Given the description of an element on the screen output the (x, y) to click on. 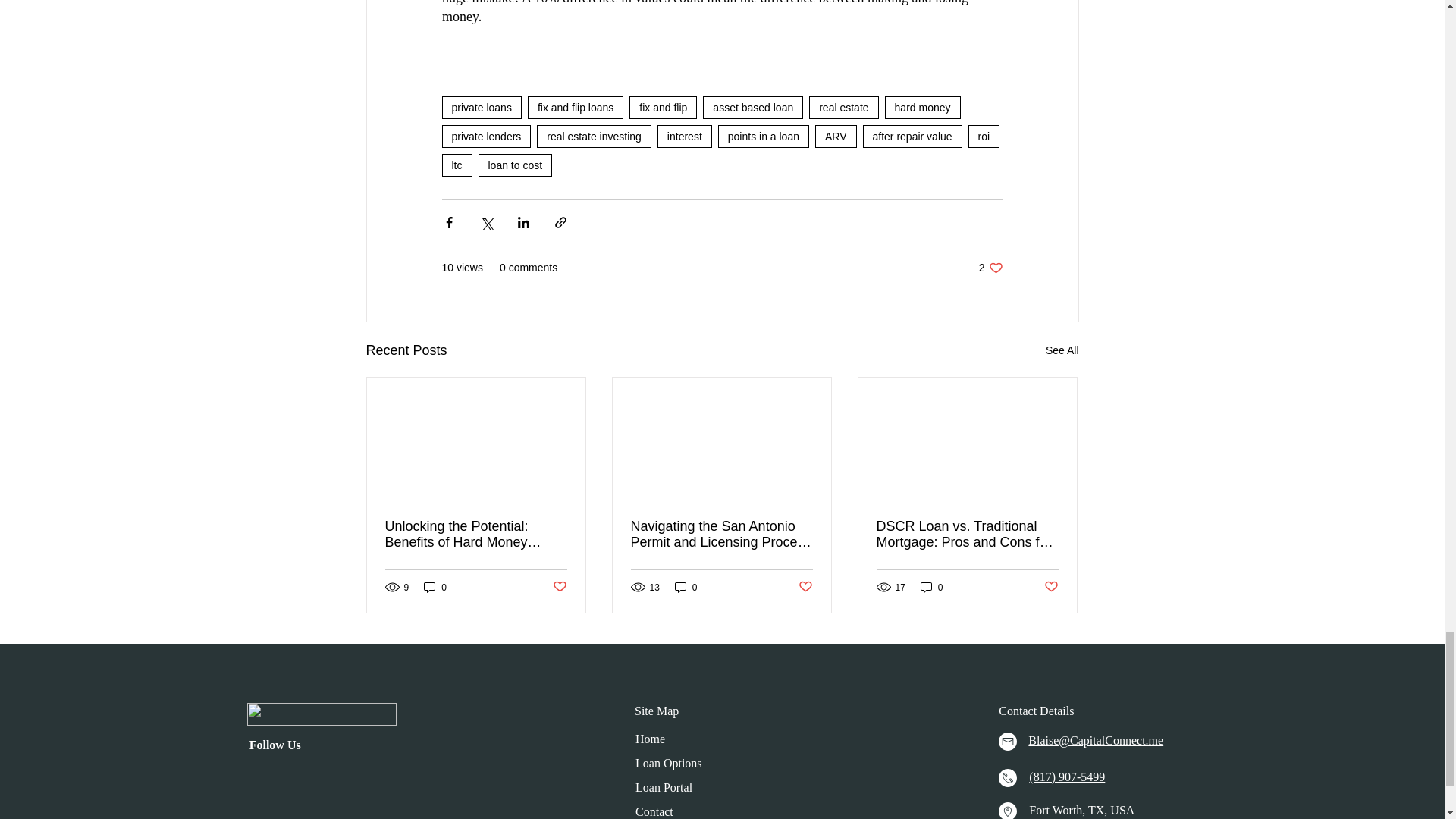
loan to cost (514, 164)
Post not marked as liked (804, 587)
fix and flip loans (575, 107)
0 (435, 586)
Loan Portal (663, 787)
asset based loan (753, 107)
fix and flip (662, 107)
hard money (922, 107)
Home (649, 738)
real estate investing (593, 136)
roi (984, 136)
0 (931, 586)
points in a loan (763, 136)
